Given the description of an element on the screen output the (x, y) to click on. 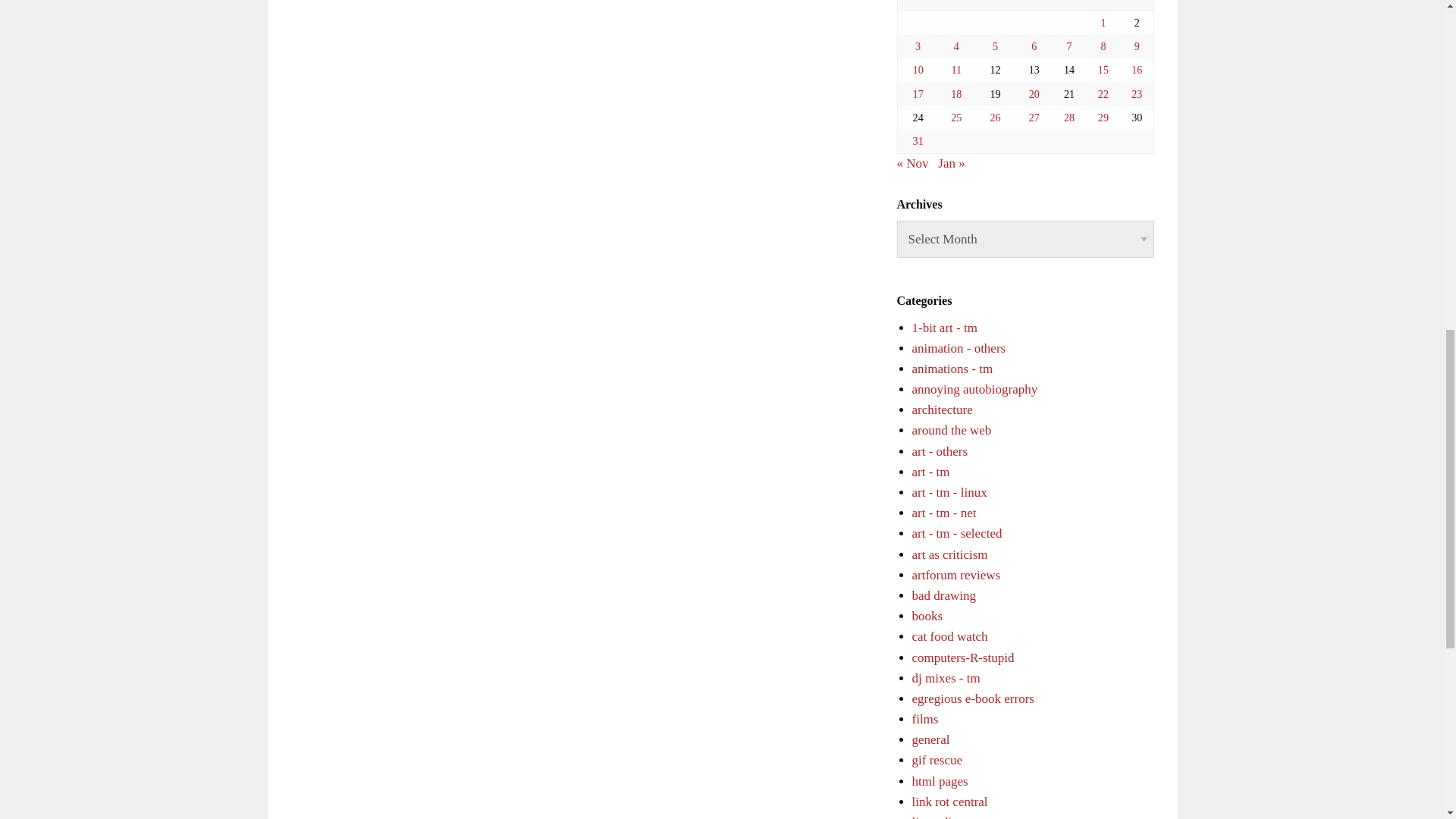
Wednesday (995, 5)
Tuesday (956, 5)
Thursday (1033, 5)
Monday (917, 5)
Friday (1068, 5)
Sunday (1136, 5)
Saturday (1102, 5)
